Given the description of an element on the screen output the (x, y) to click on. 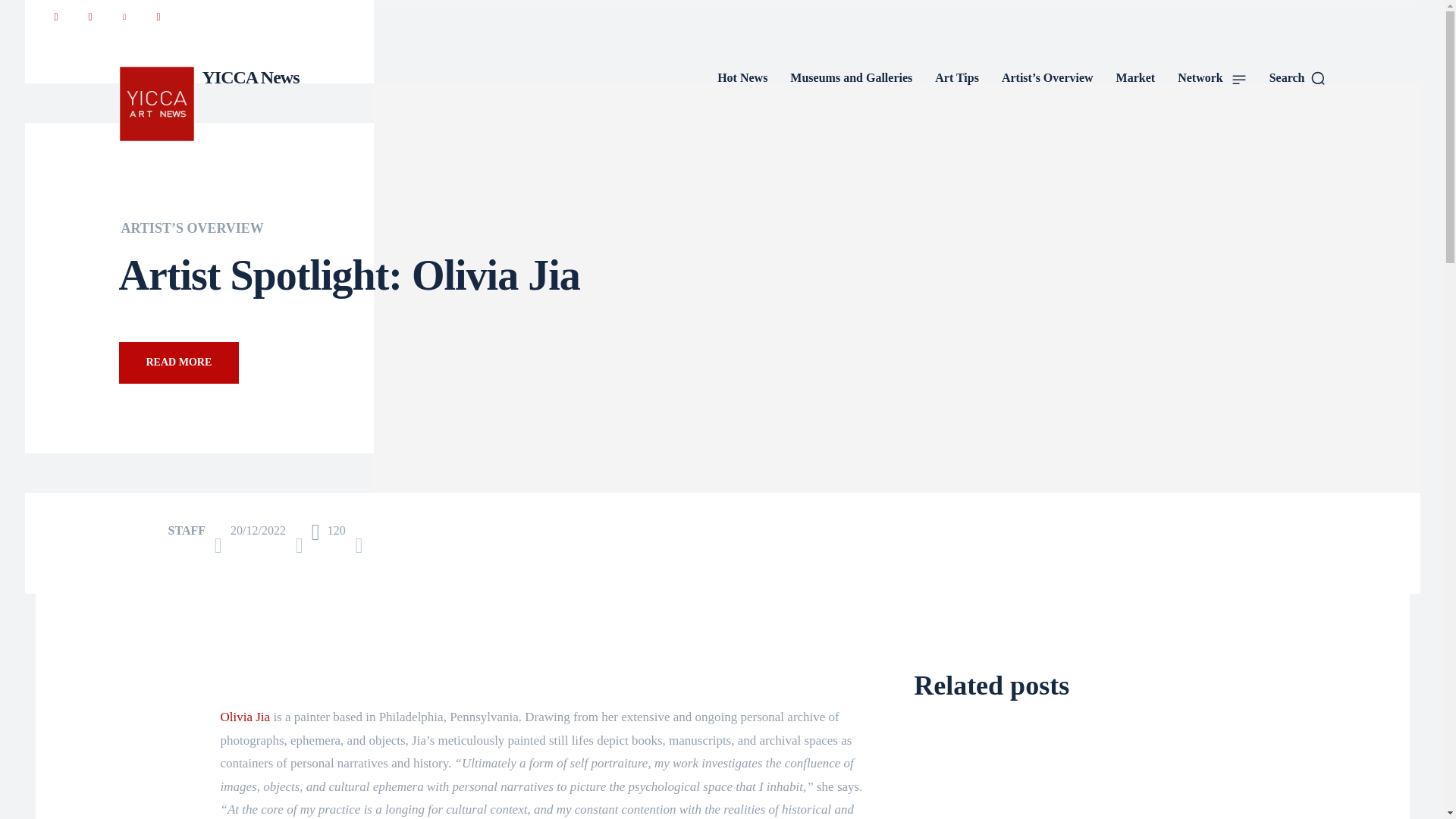
Hot News (742, 77)
Museums and Galleries (850, 77)
Facebook (55, 17)
Twitter (158, 17)
YICCA News (207, 103)
Instagram (90, 17)
Linkedin (123, 17)
